Given the description of an element on the screen output the (x, y) to click on. 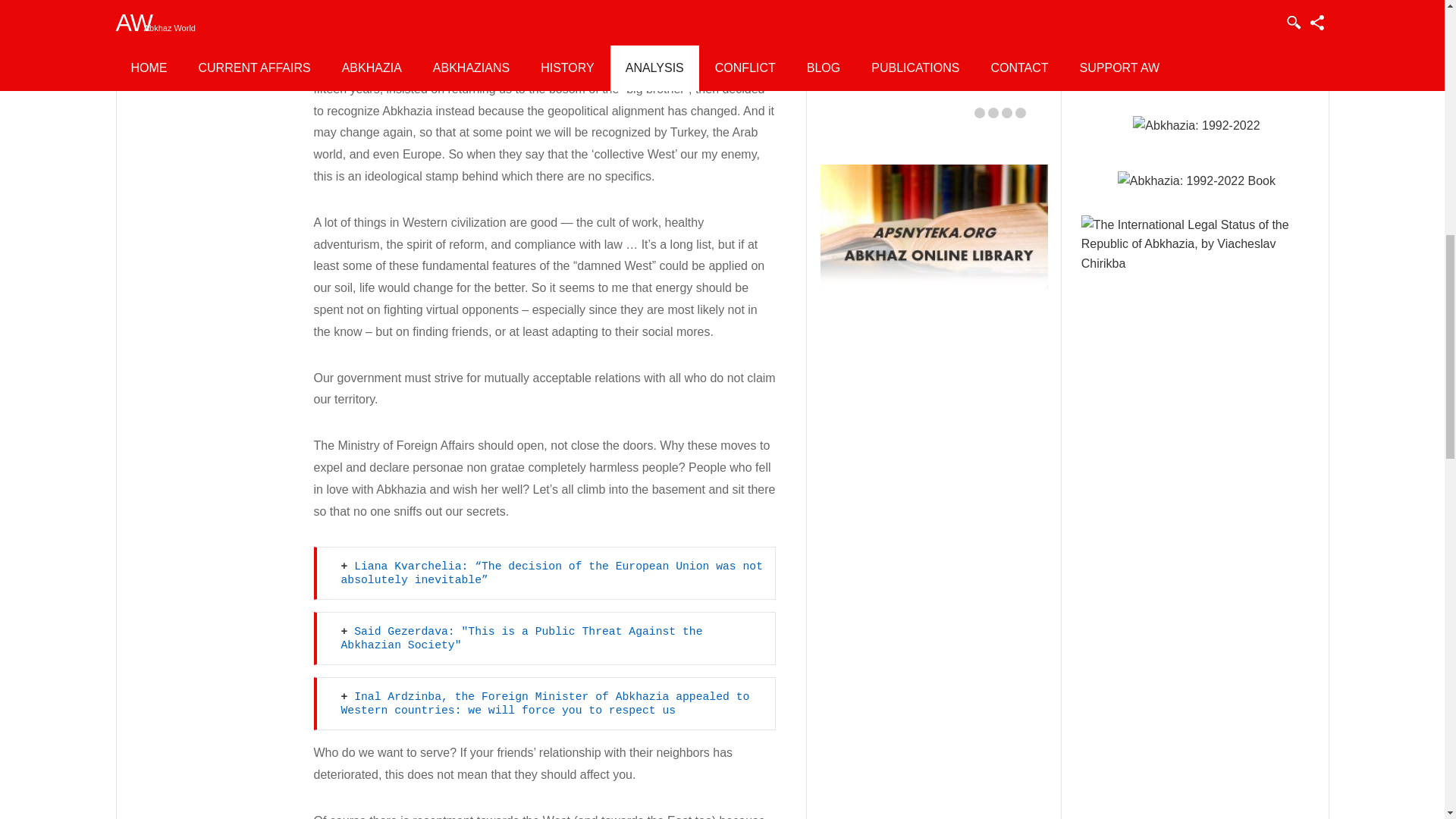
Azerbaijan's contribution to the isolation of Abkhazia (936, 36)
